Given the description of an element on the screen output the (x, y) to click on. 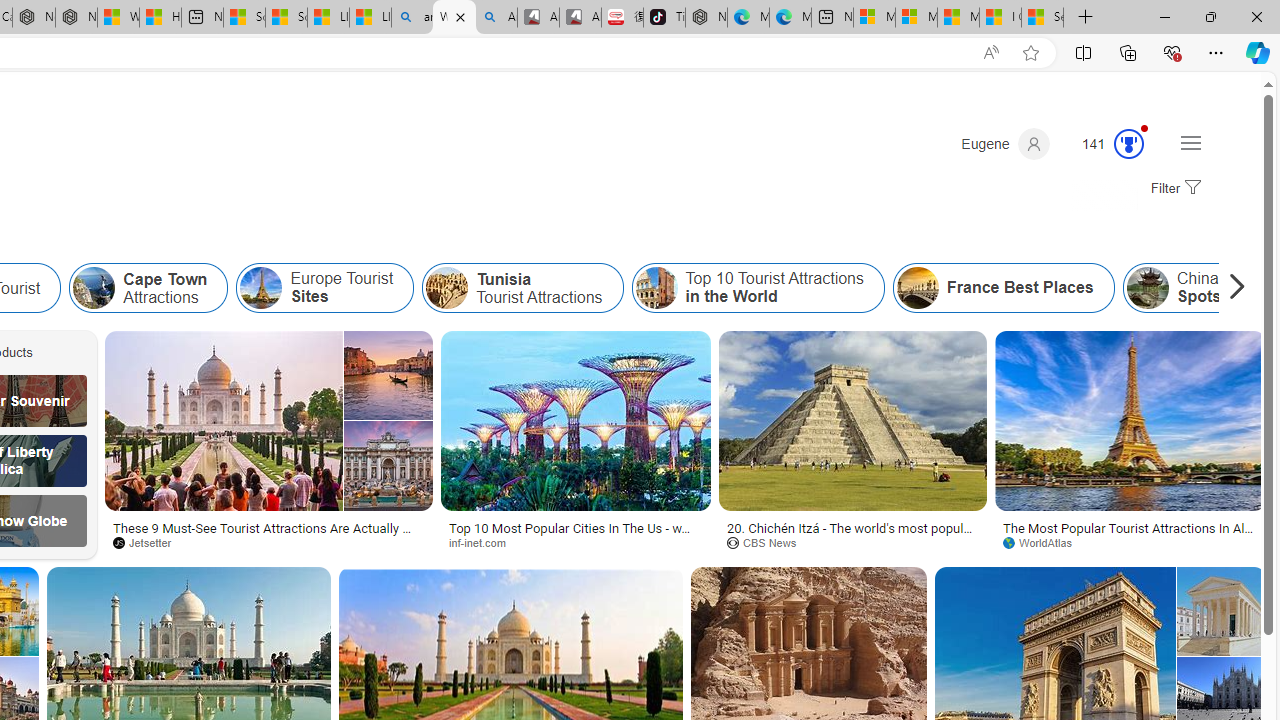
CBS News (769, 541)
